Given the description of an element on the screen output the (x, y) to click on. 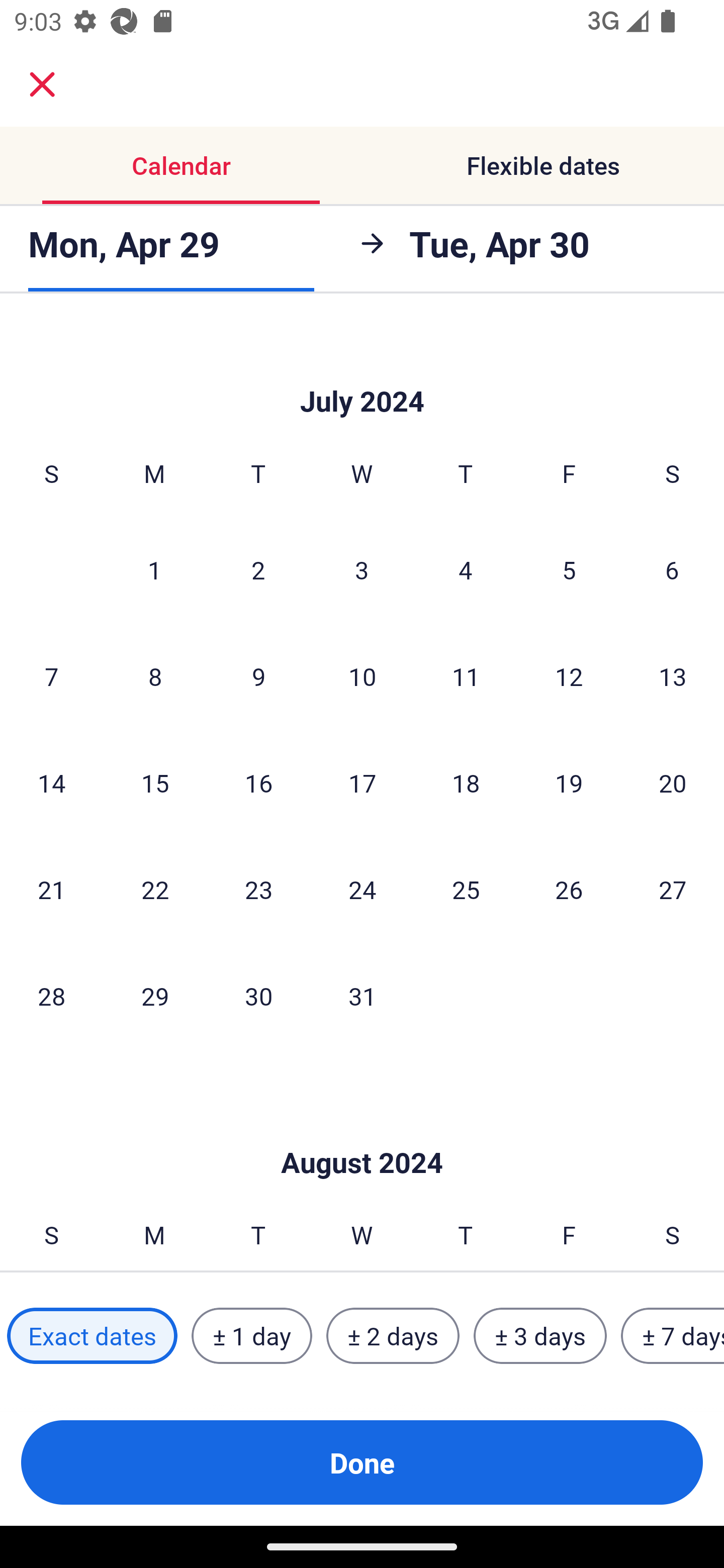
close. (42, 84)
Flexible dates (542, 164)
Skip to Done (362, 371)
1 Monday, July 1, 2024 (154, 568)
2 Tuesday, July 2, 2024 (257, 568)
3 Wednesday, July 3, 2024 (361, 568)
4 Thursday, July 4, 2024 (465, 568)
5 Friday, July 5, 2024 (568, 568)
6 Saturday, July 6, 2024 (672, 568)
7 Sunday, July 7, 2024 (51, 675)
8 Monday, July 8, 2024 (155, 675)
9 Tuesday, July 9, 2024 (258, 675)
10 Wednesday, July 10, 2024 (362, 675)
11 Thursday, July 11, 2024 (465, 675)
12 Friday, July 12, 2024 (569, 675)
13 Saturday, July 13, 2024 (672, 675)
14 Sunday, July 14, 2024 (51, 782)
15 Monday, July 15, 2024 (155, 782)
16 Tuesday, July 16, 2024 (258, 782)
17 Wednesday, July 17, 2024 (362, 782)
18 Thursday, July 18, 2024 (465, 782)
19 Friday, July 19, 2024 (569, 782)
20 Saturday, July 20, 2024 (672, 782)
21 Sunday, July 21, 2024 (51, 888)
22 Monday, July 22, 2024 (155, 888)
23 Tuesday, July 23, 2024 (258, 888)
24 Wednesday, July 24, 2024 (362, 888)
25 Thursday, July 25, 2024 (465, 888)
26 Friday, July 26, 2024 (569, 888)
27 Saturday, July 27, 2024 (672, 888)
28 Sunday, July 28, 2024 (51, 995)
29 Monday, July 29, 2024 (155, 995)
30 Tuesday, July 30, 2024 (258, 995)
31 Wednesday, July 31, 2024 (362, 995)
Skip to Done (362, 1132)
Exact dates (92, 1335)
± 1 day (251, 1335)
± 2 days (392, 1335)
± 3 days (539, 1335)
± 7 days (672, 1335)
Done (361, 1462)
